Given the description of an element on the screen output the (x, y) to click on. 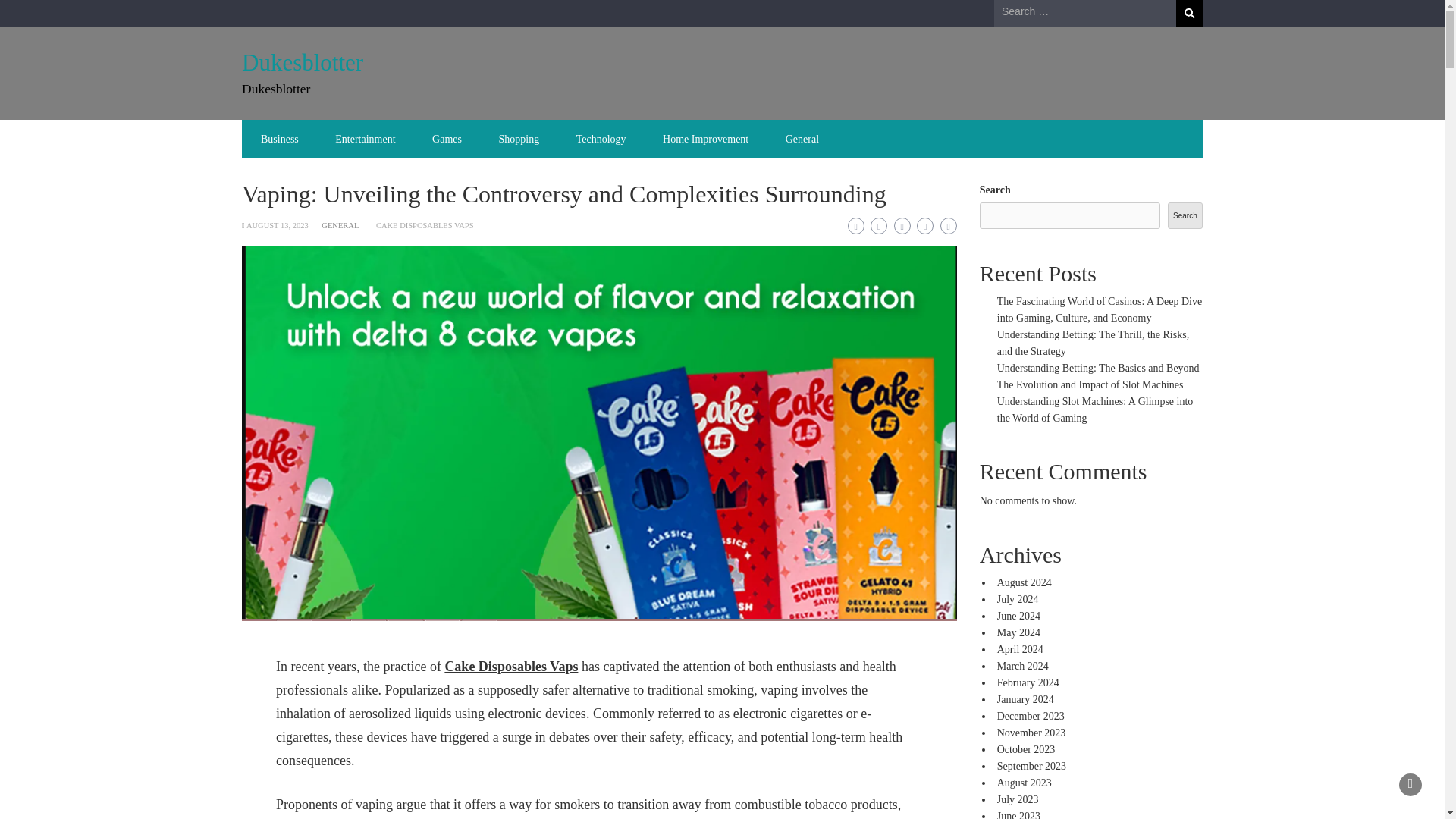
Shopping (518, 138)
August 2024 (1024, 582)
Search (1189, 13)
Cake Disposables Vaps (511, 666)
June 2024 (1019, 615)
The Evolution and Impact of Slot Machines (1090, 384)
General (802, 138)
Games (446, 138)
GENERAL (339, 225)
